Given the description of an element on the screen output the (x, y) to click on. 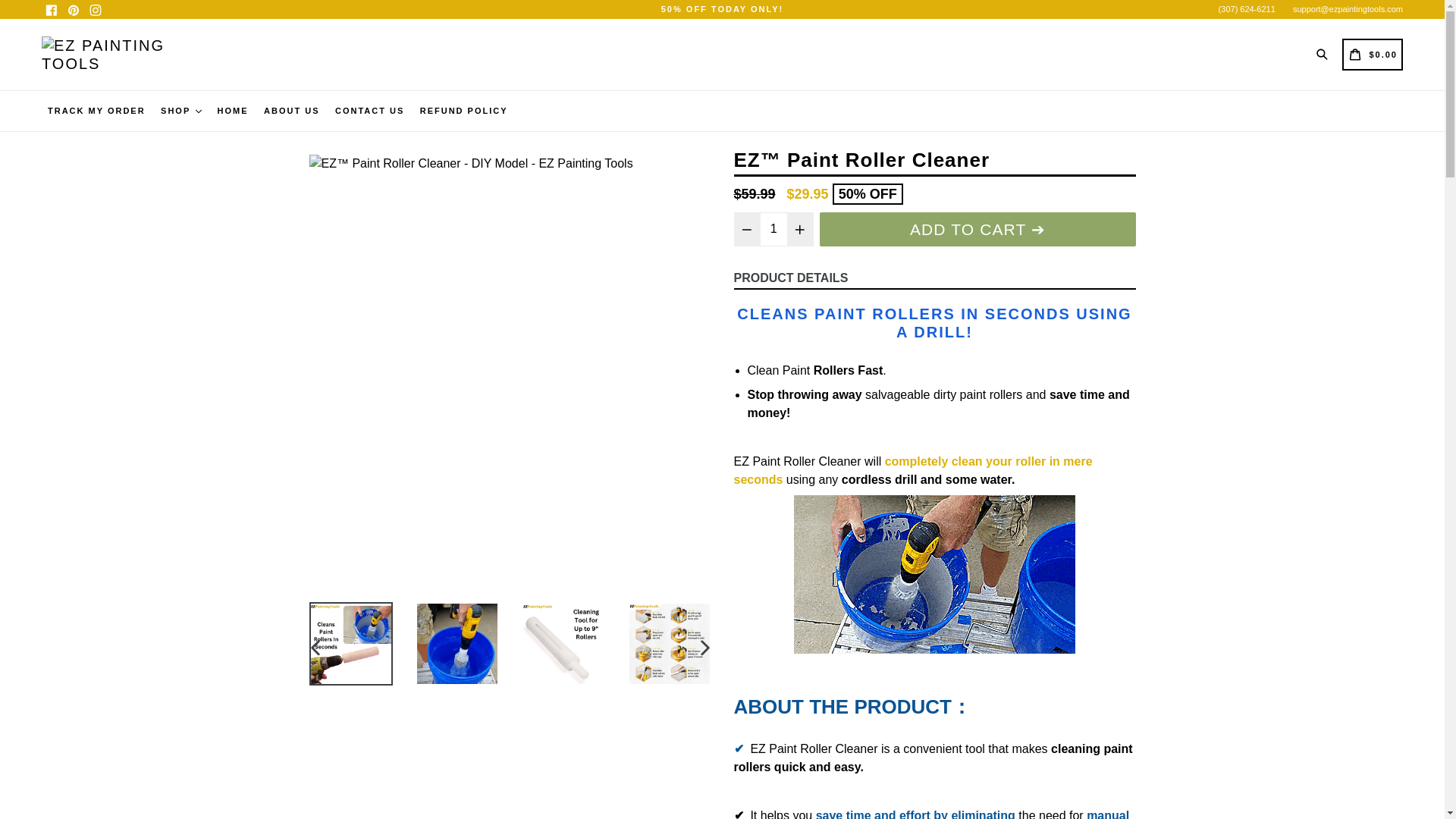
Instagram (94, 10)
Pinterest (73, 10)
HOME (232, 110)
TRACK MY ORDER (96, 110)
Search (1324, 53)
ABOUT US (290, 110)
Facebook (51, 10)
EZ Painting Tools on Instagram (94, 10)
CONTACT US (369, 110)
EZ Painting Tools on Pinterest (73, 10)
